Given the description of an element on the screen output the (x, y) to click on. 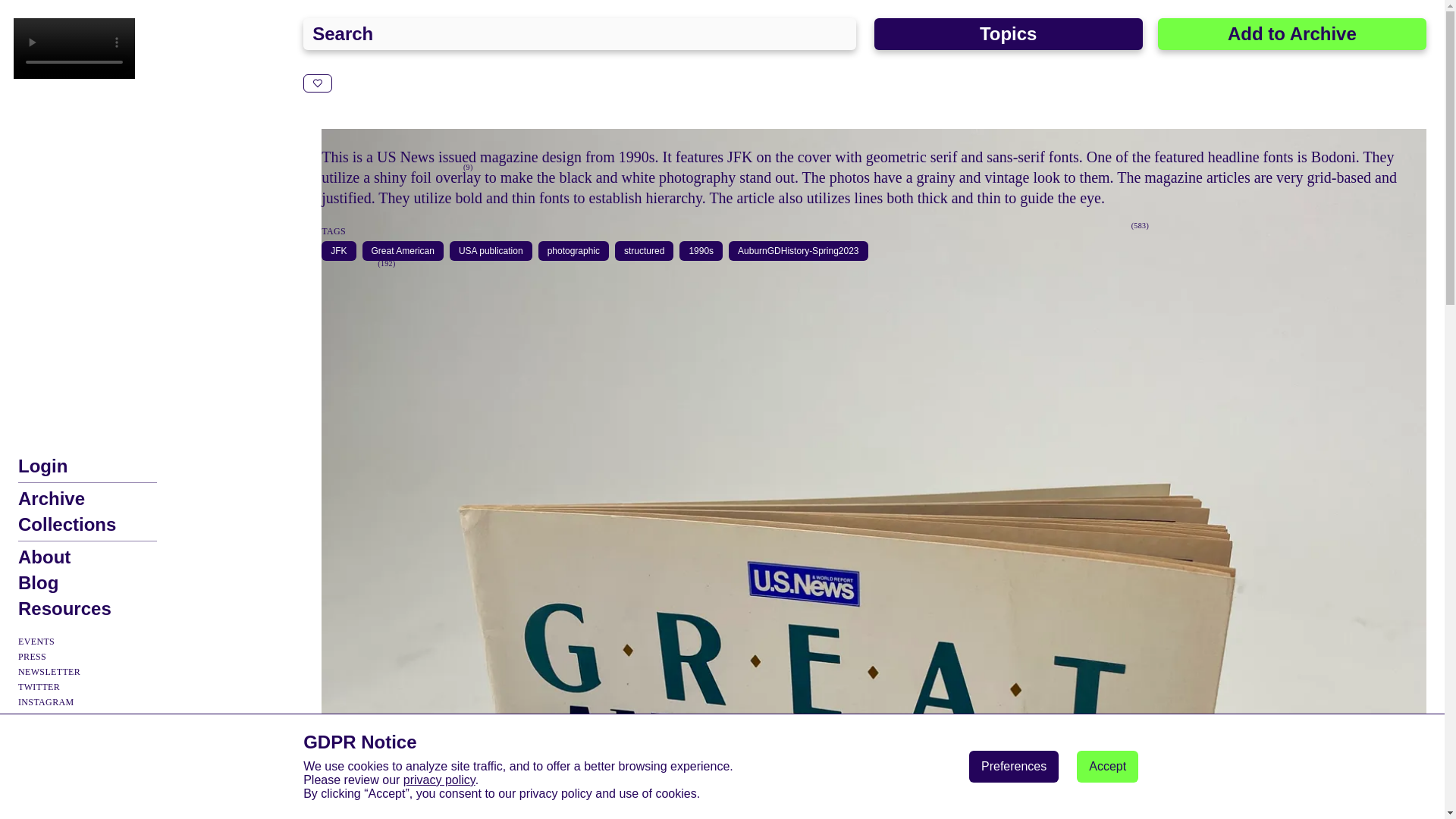
U.S. News   (727, 226)
Add to Archive (1291, 33)
1990s (700, 250)
Magazine (1096, 226)
Collections (66, 524)
structured (643, 250)
EVENTS (36, 641)
Resources (64, 608)
Great American (402, 250)
USA publication (490, 250)
